Given the description of an element on the screen output the (x, y) to click on. 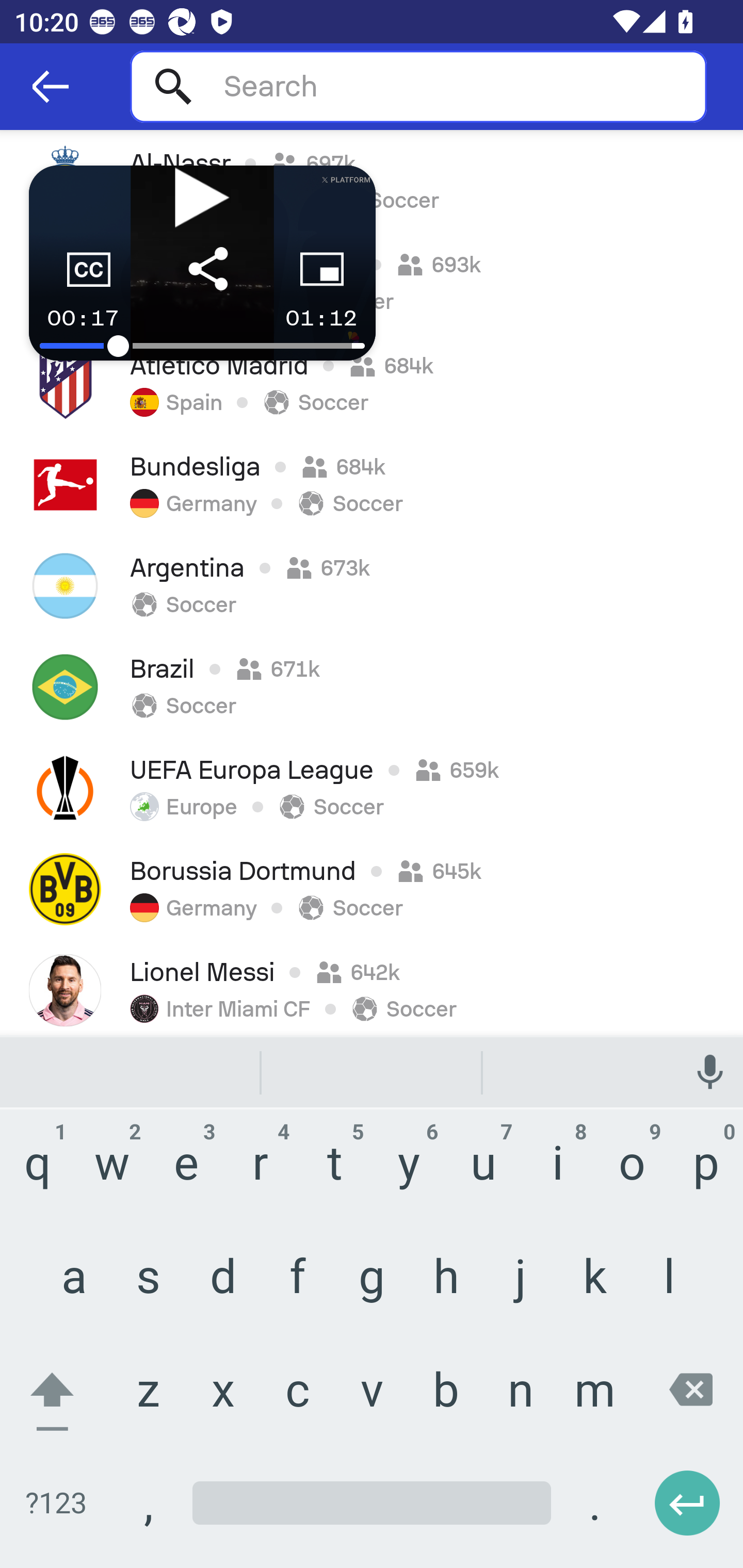
Navigate up (50, 86)
Search (418, 86)
Atlético Madrid 684k Spain Soccer (371, 383)
Bundesliga 684k Germany Soccer (371, 484)
Argentina 673k Soccer (371, 585)
Brazil 671k Soccer (371, 686)
UEFA Europa League 659k Europe Soccer (371, 787)
Borussia Dortmund 645k Germany Soccer (371, 888)
Lionel Messi 642k Inter Miami CF Soccer (371, 986)
